Given the description of an element on the screen output the (x, y) to click on. 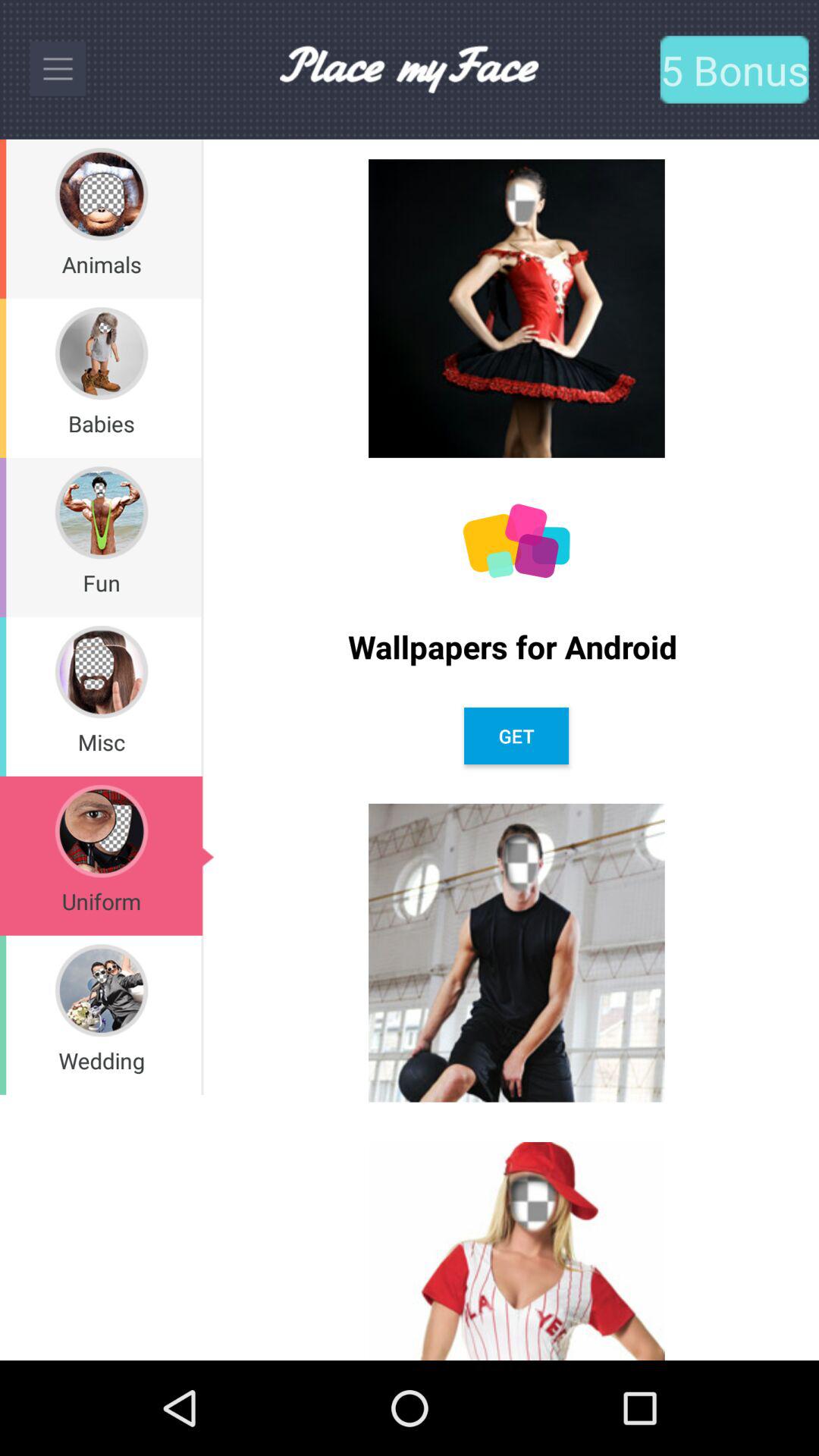
launch babies item (101, 423)
